Given the description of an element on the screen output the (x, y) to click on. 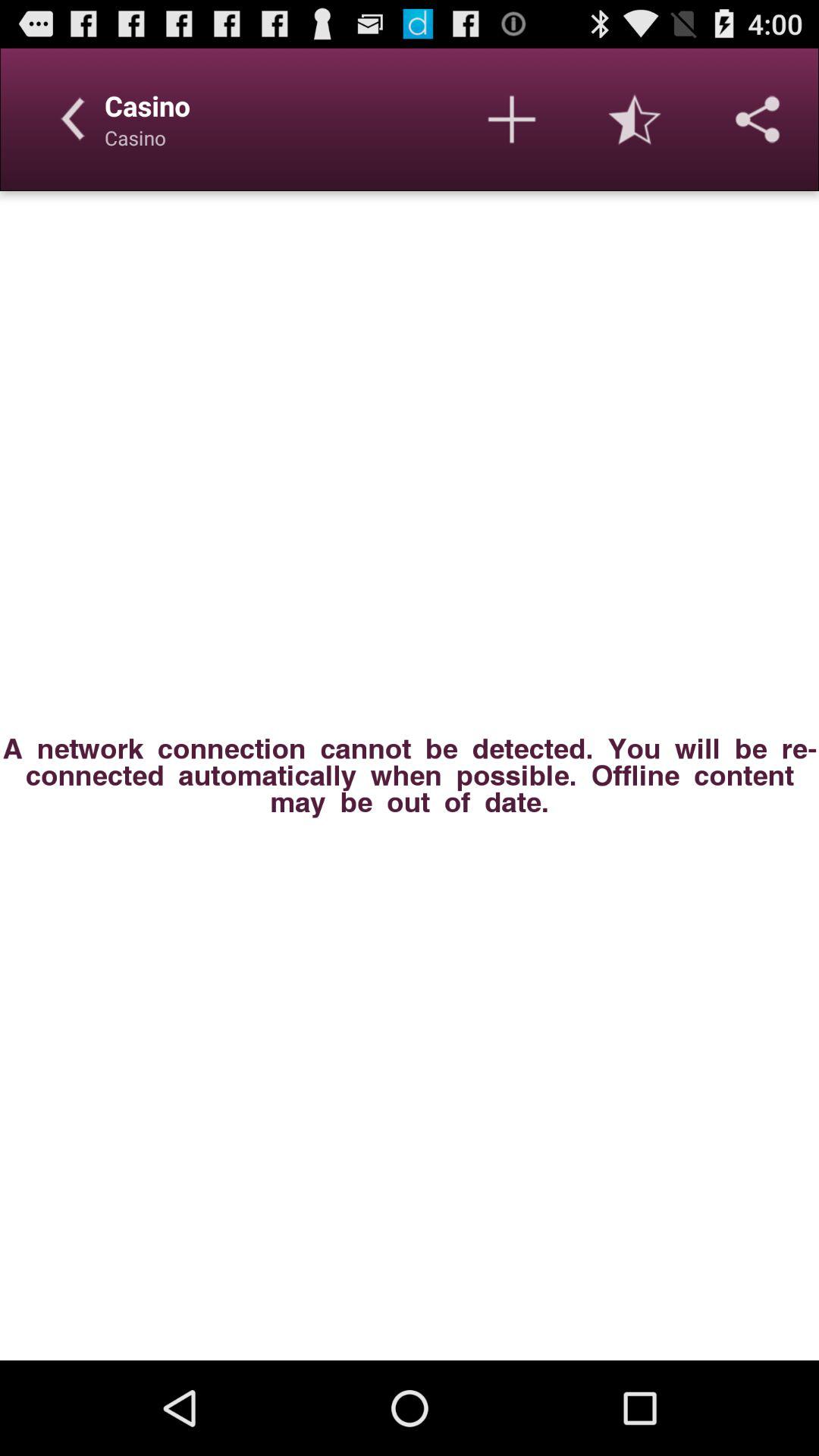
turn off the item at the top (511, 119)
